Given the description of an element on the screen output the (x, y) to click on. 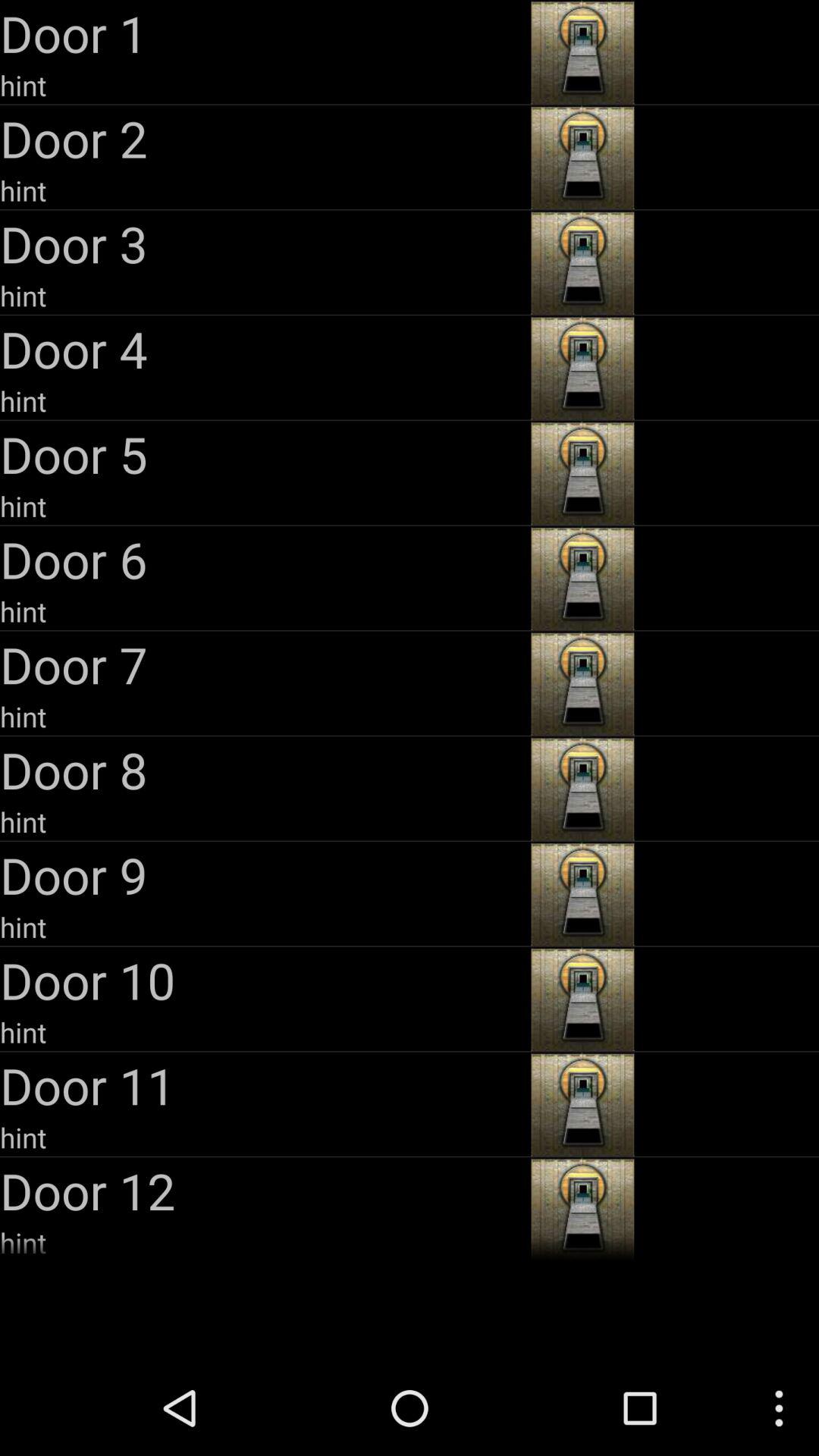
open the door 5 item (263, 453)
